Given the description of an element on the screen output the (x, y) to click on. 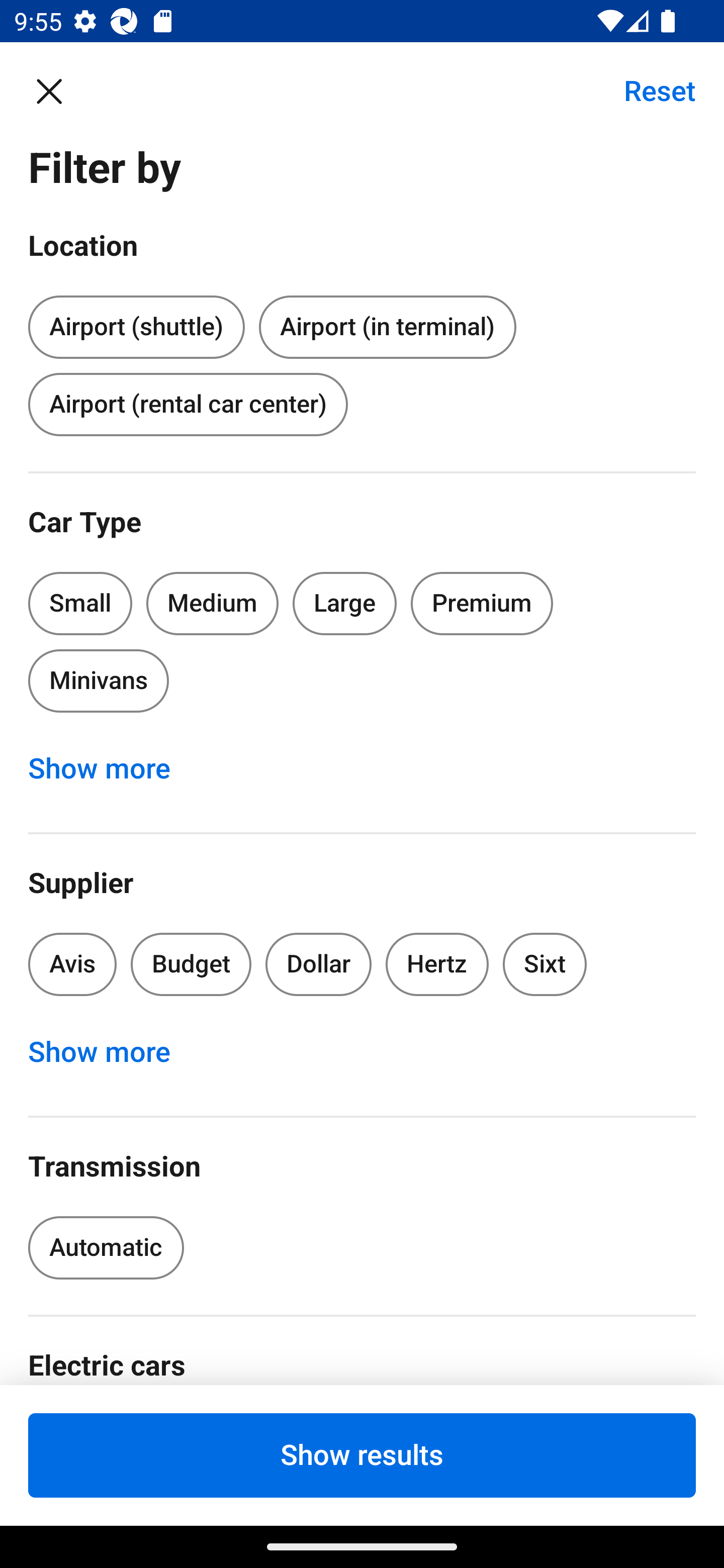
Close (59, 90)
Reset (649, 90)
Airport (shuttle) (136, 323)
Airport (in terminal) (387, 327)
Airport (rental car center) (187, 404)
Small (80, 603)
Medium (212, 603)
Large (344, 603)
Premium (482, 603)
Minivans (98, 680)
Show more (109, 767)
Avis (72, 963)
Budget (191, 963)
Dollar (318, 963)
Hertz (437, 963)
Sixt (544, 963)
Show more (109, 1051)
Automatic (105, 1247)
Show results (361, 1454)
